Given the description of an element on the screen output the (x, y) to click on. 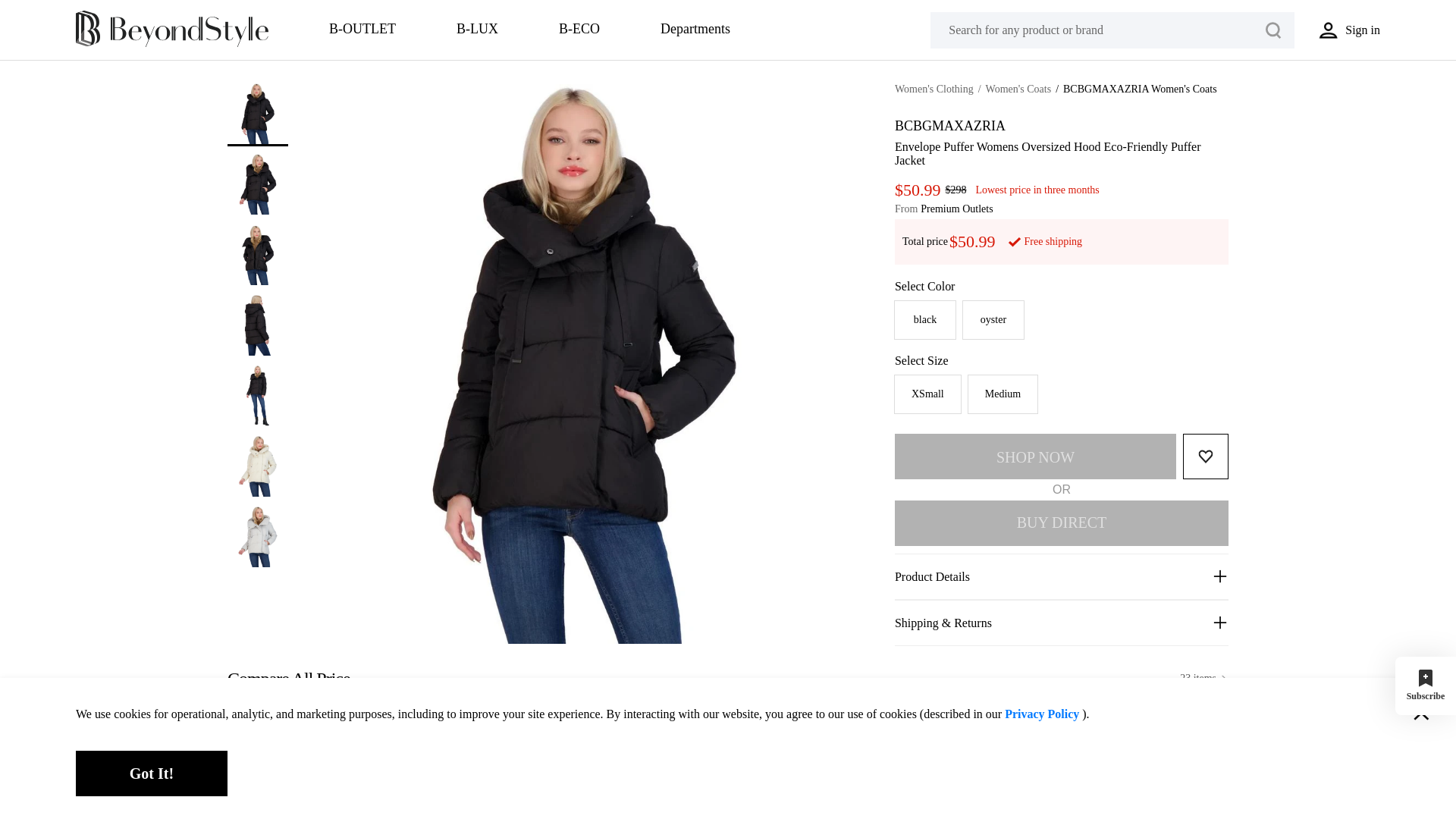
Won Hundred Black Fellow Jacket (1152, 756)
outlet mode (362, 29)
B-LUX (477, 29)
MAJE Short satiny padded jacket (812, 756)
MAJE Short satiny padded jacket (643, 756)
Women's Clothing (934, 89)
MAJE Short satiny padded jacket (982, 756)
Mercer Collective Sammy Quilted Down Puffer (302, 756)
B-OUTLET (362, 29)
B-ECO (579, 29)
BCBGMAXAZRIA Women's Coats (1139, 89)
eco mode (579, 29)
luxury mode (477, 29)
homepage (171, 44)
Women's Coats (1018, 89)
